Given the description of an element on the screen output the (x, y) to click on. 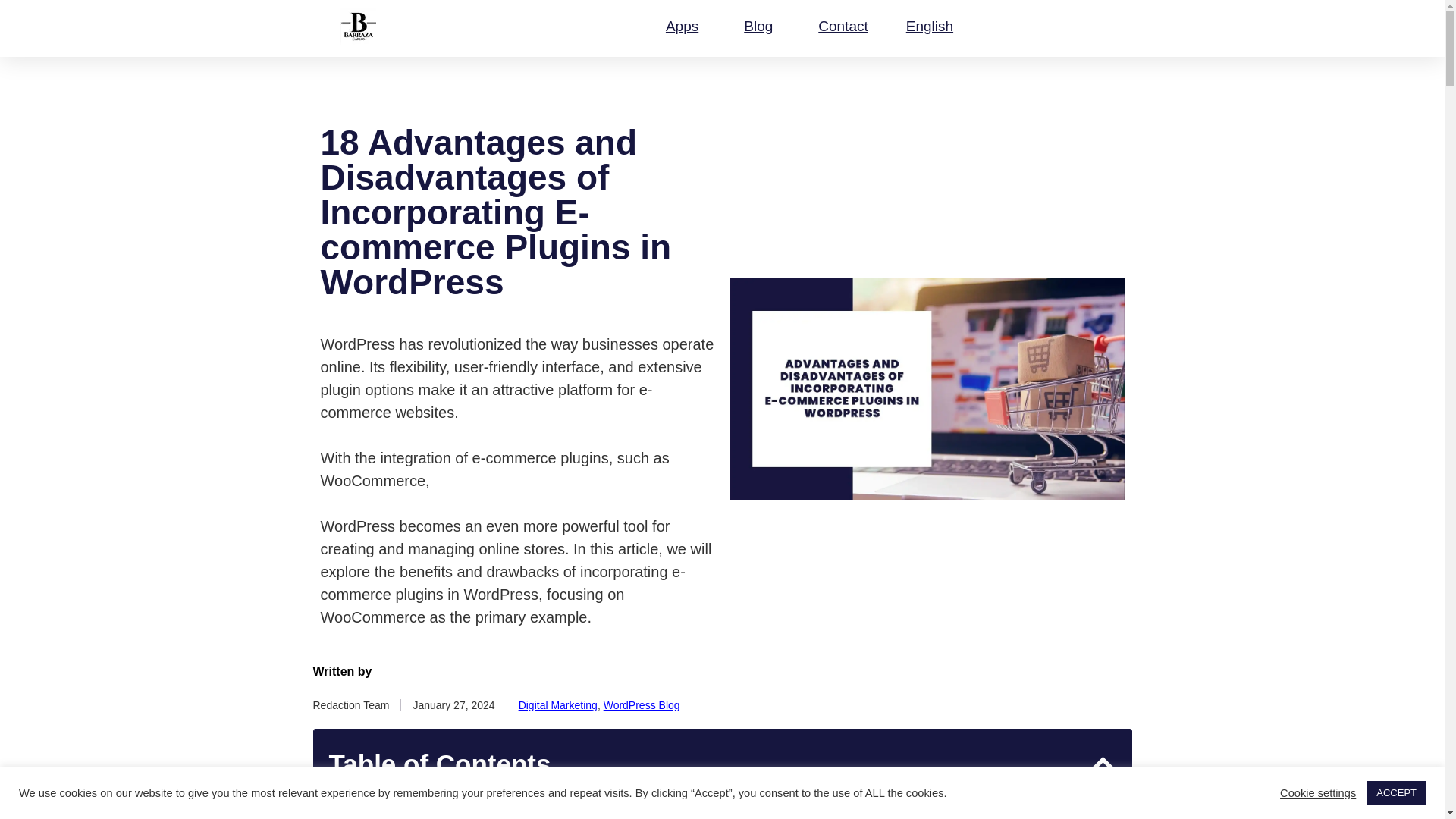
English (932, 26)
WordPress Blog (641, 705)
Apps (685, 26)
Contact (842, 26)
English (932, 26)
Blog (762, 26)
Digital Marketing (557, 705)
